Given the description of an element on the screen output the (x, y) to click on. 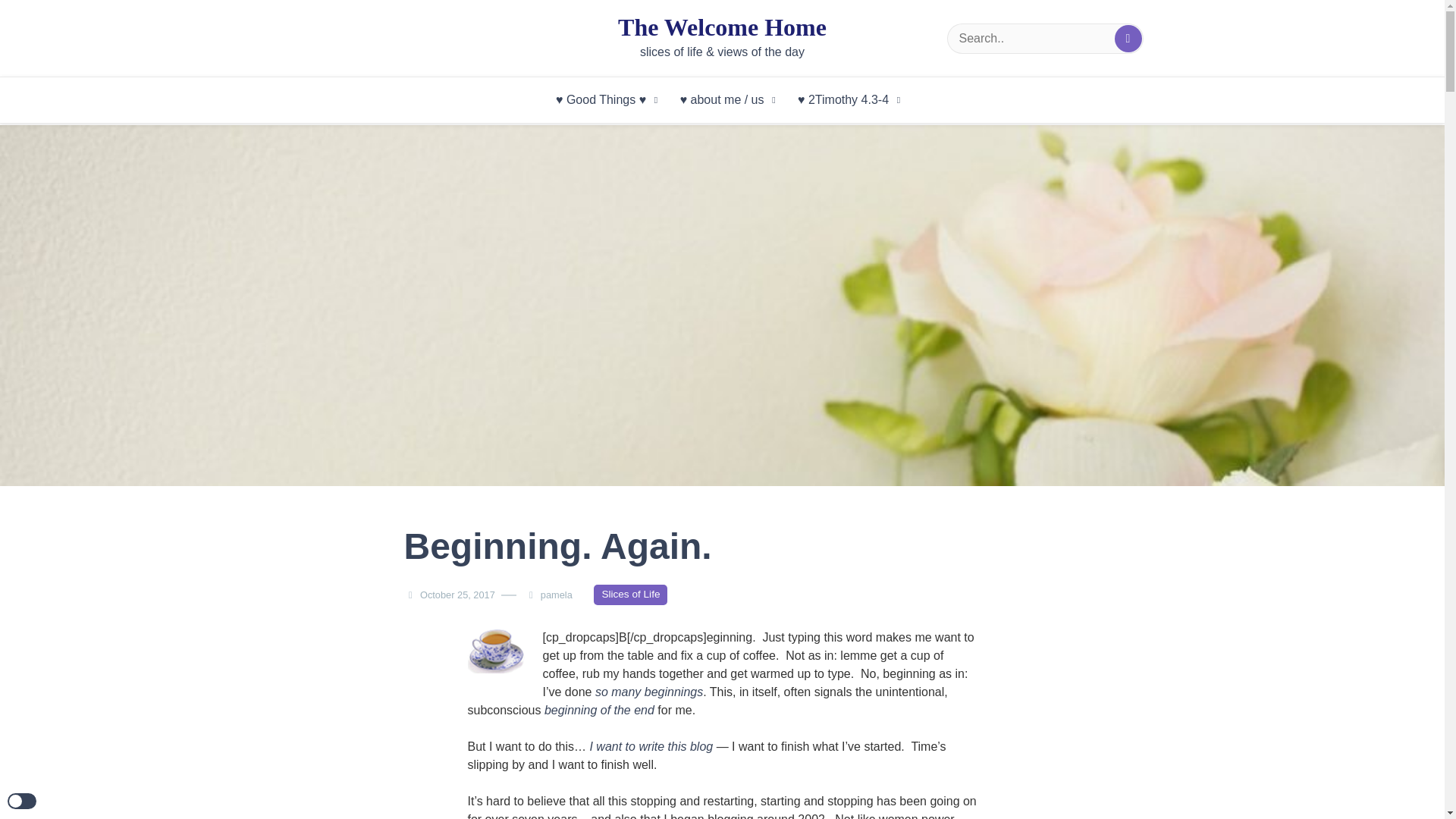
pamela (559, 594)
Slices of Life (630, 594)
The Welcome Home (722, 27)
October 25, 2017 (457, 594)
